Given the description of an element on the screen output the (x, y) to click on. 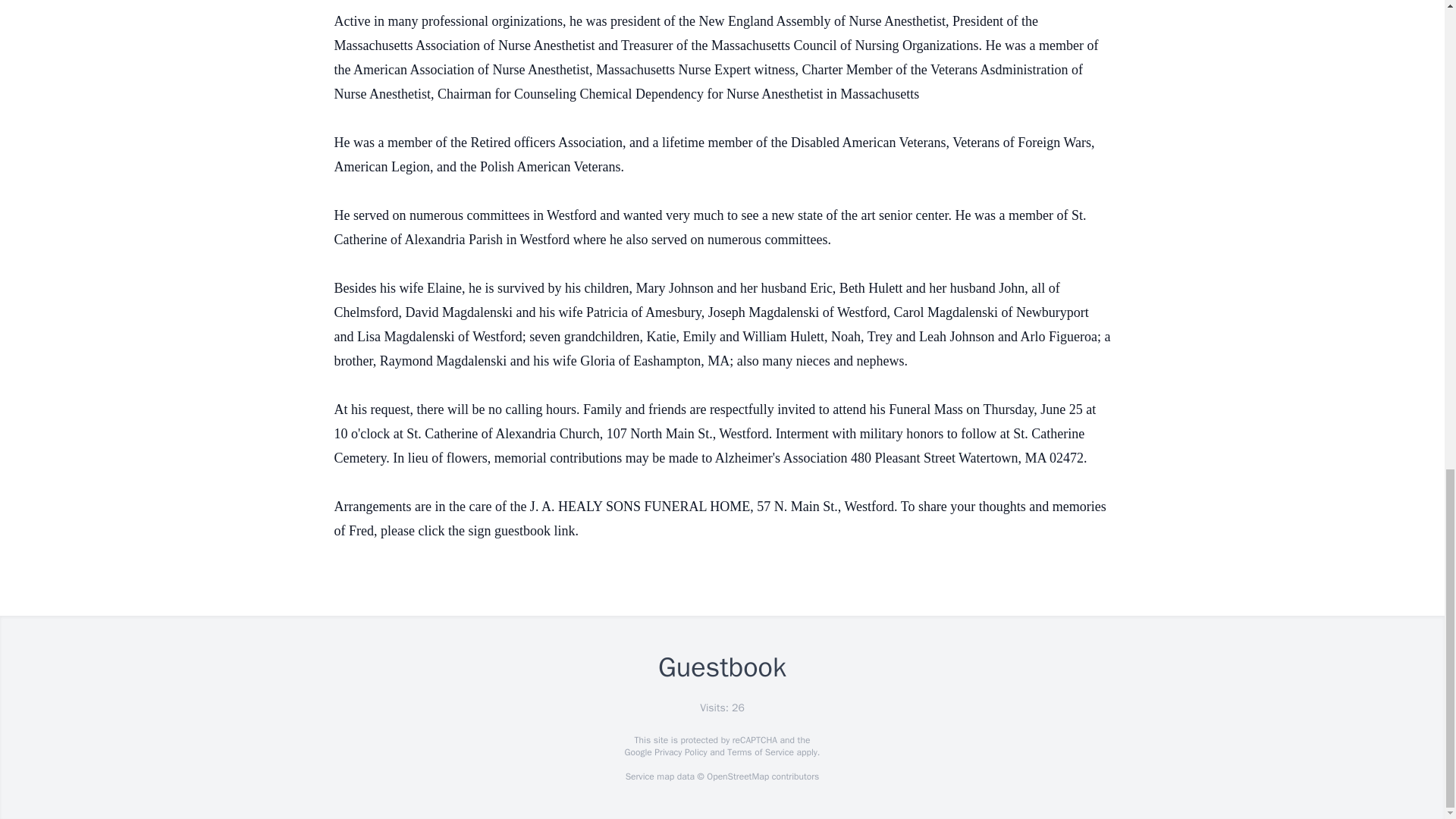
Terms of Service (759, 752)
Privacy Policy (679, 752)
OpenStreetMap (737, 776)
